Given the description of an element on the screen output the (x, y) to click on. 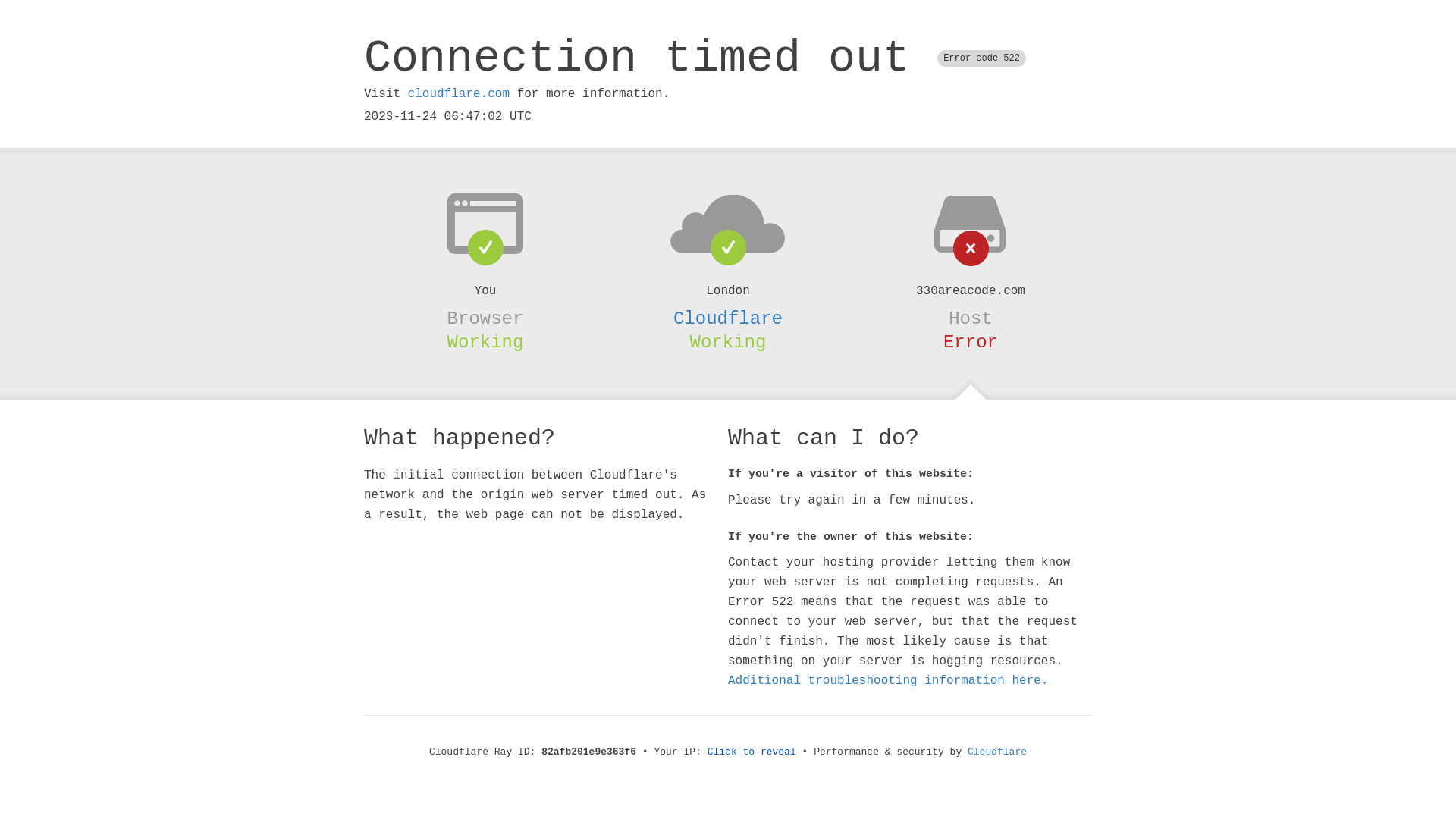
Cloudflare Element type: text (996, 751)
Additional troubleshooting information here. Element type: text (888, 680)
Cloudflare Element type: text (727, 318)
Click to reveal Element type: text (751, 751)
cloudflare.com Element type: text (458, 93)
